Given the description of an element on the screen output the (x, y) to click on. 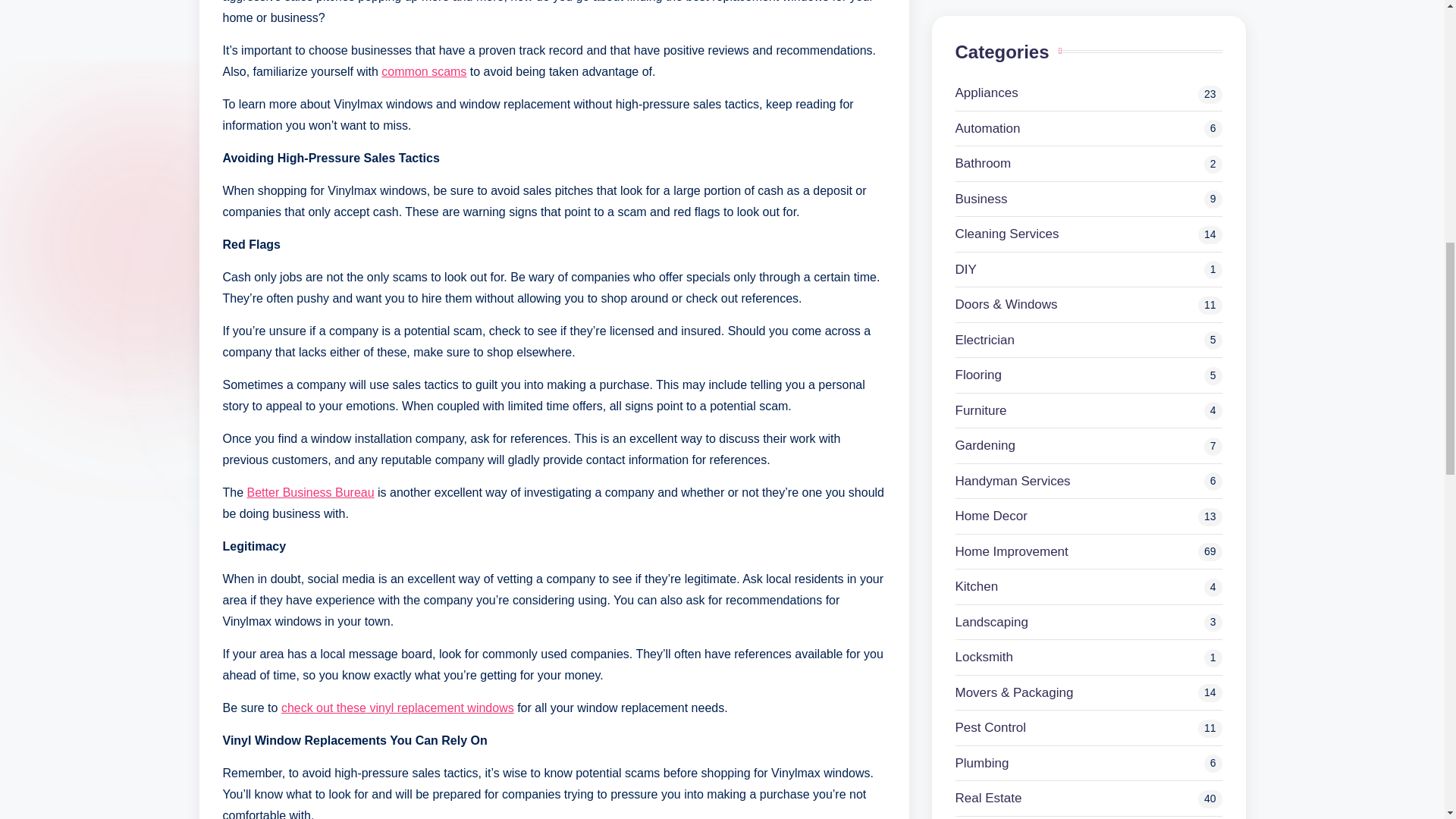
check out these vinyl replacement windows (397, 707)
common scams (423, 71)
Better Business Bureau (310, 492)
